Given the description of an element on the screen output the (x, y) to click on. 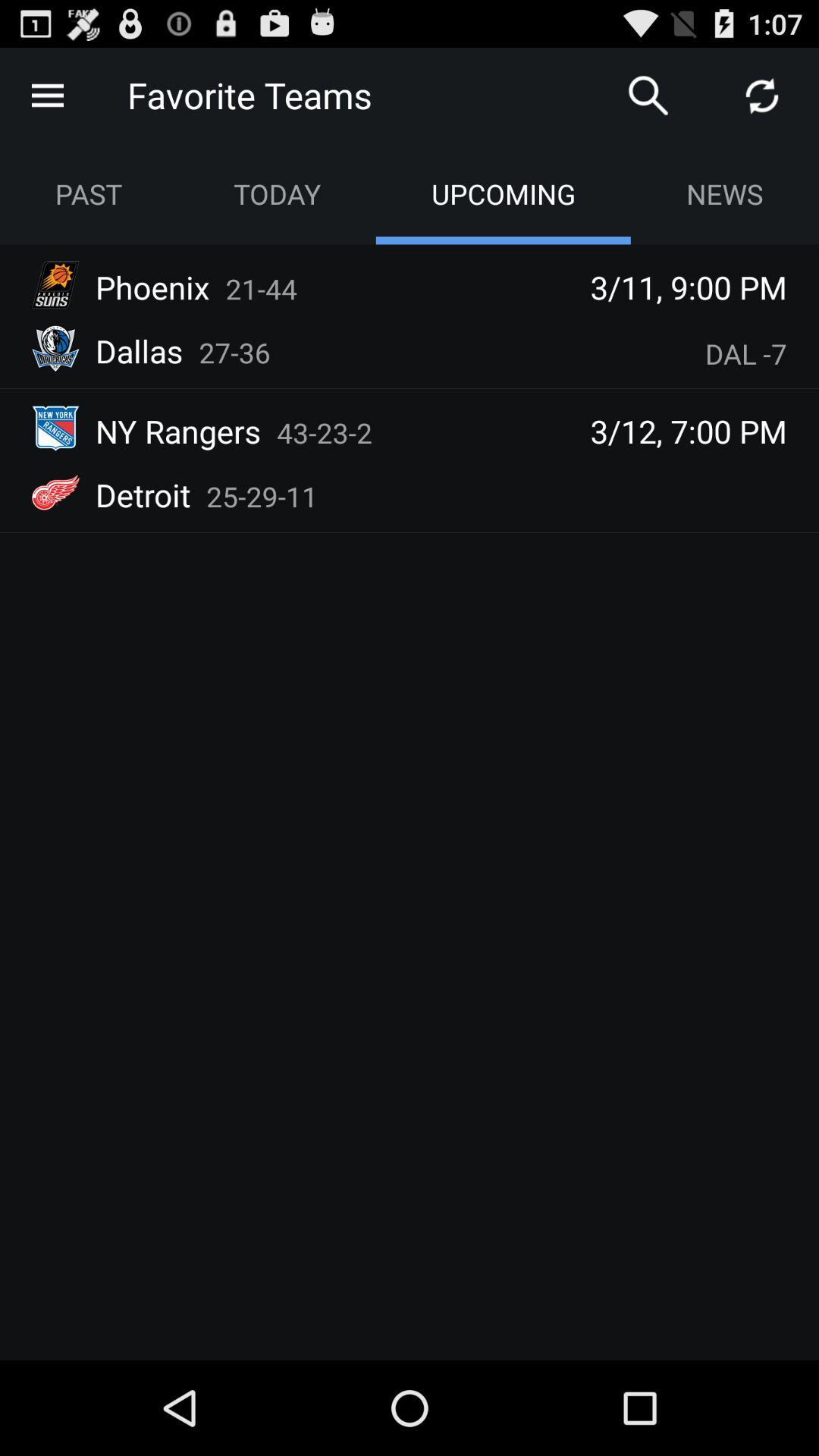
launch the app above 27-36 icon (261, 288)
